Given the description of an element on the screen output the (x, y) to click on. 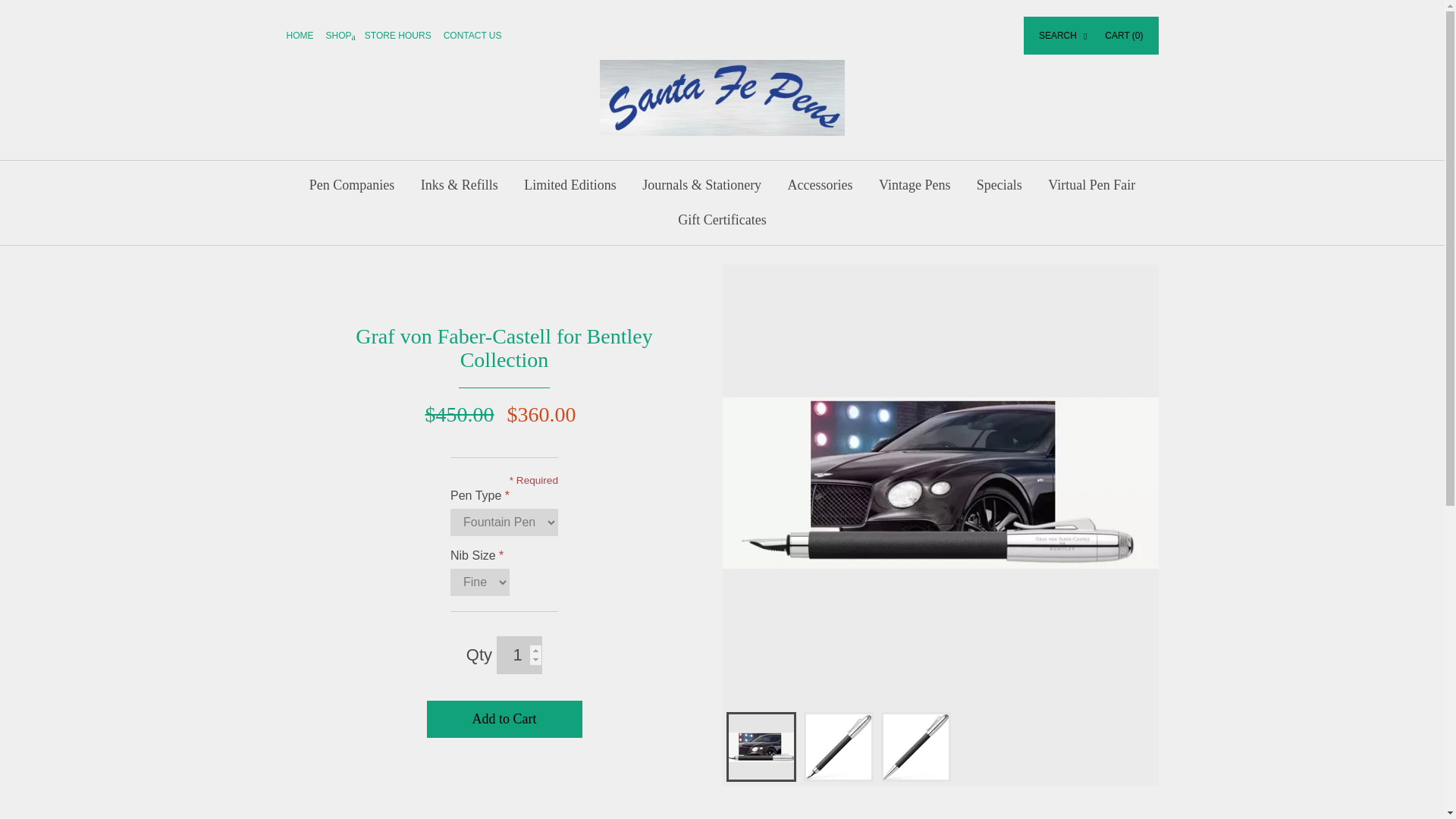
Add to Cart (503, 719)
HOME (306, 35)
1 (518, 655)
SHOP (345, 35)
